Given the description of an element on the screen output the (x, y) to click on. 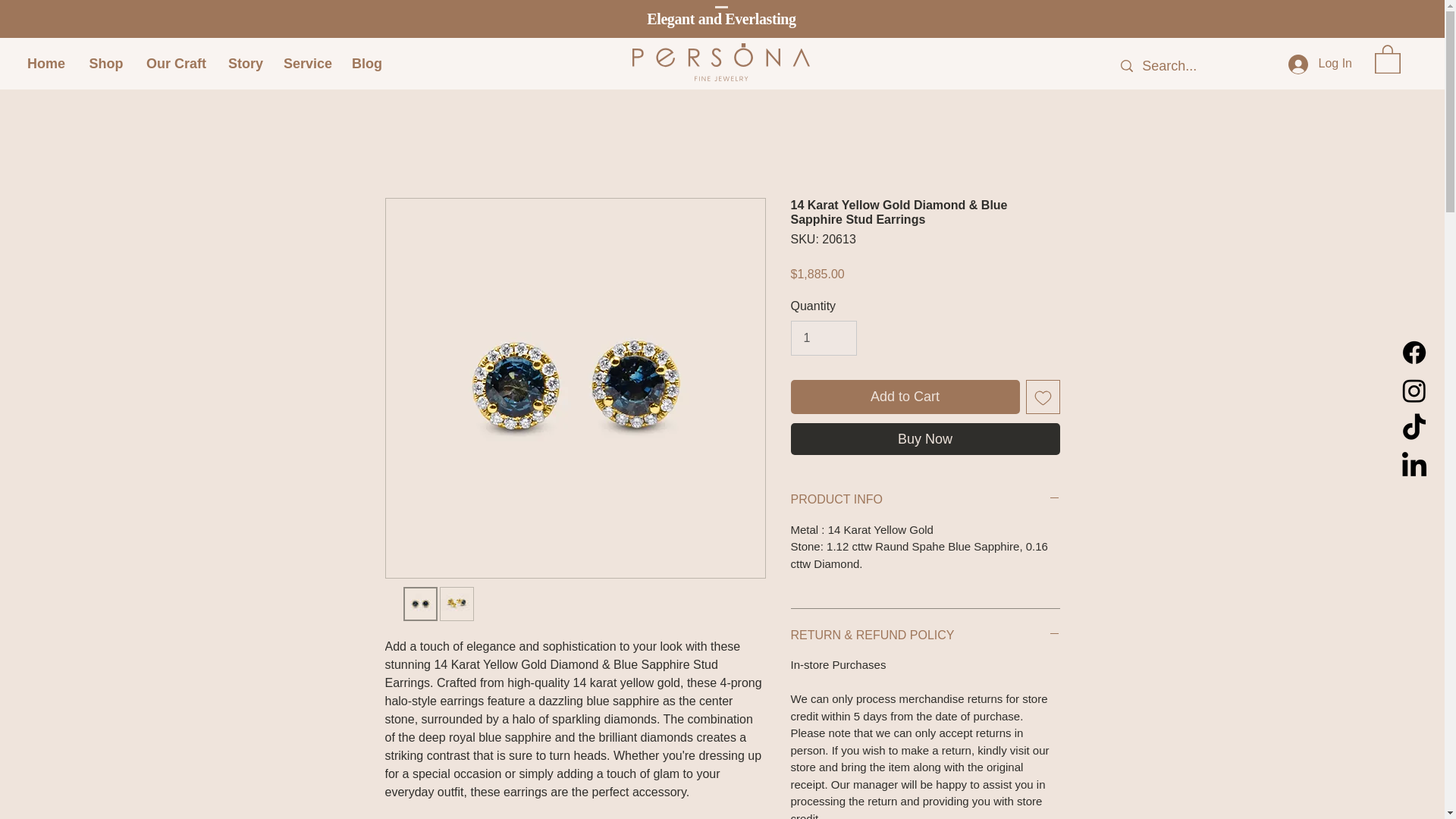
Shop (106, 63)
Log In (1320, 63)
Home (45, 63)
Blog (366, 63)
Story (244, 63)
Add to Cart (904, 397)
Buy Now (924, 439)
PRODUCT INFO (924, 499)
Service (306, 63)
Our Craft (175, 63)
1 (823, 338)
